Given the description of an element on the screen output the (x, y) to click on. 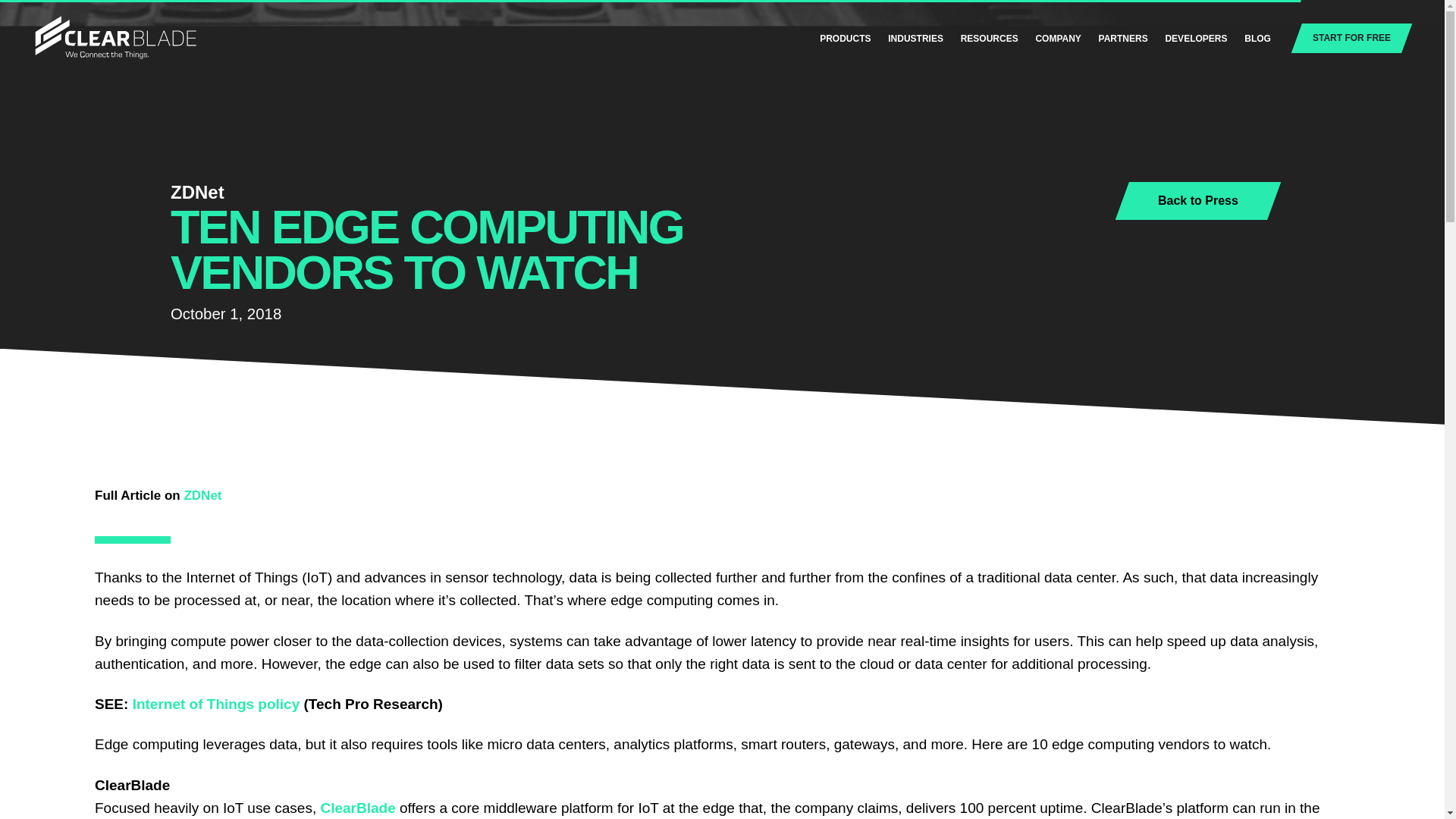
DEVELOPERS (1195, 38)
PARTNERS (1123, 38)
COMPANY (1057, 38)
RESOURCES (988, 38)
PRODUCTS (844, 38)
INDUSTRIES (915, 38)
